Given the description of an element on the screen output the (x, y) to click on. 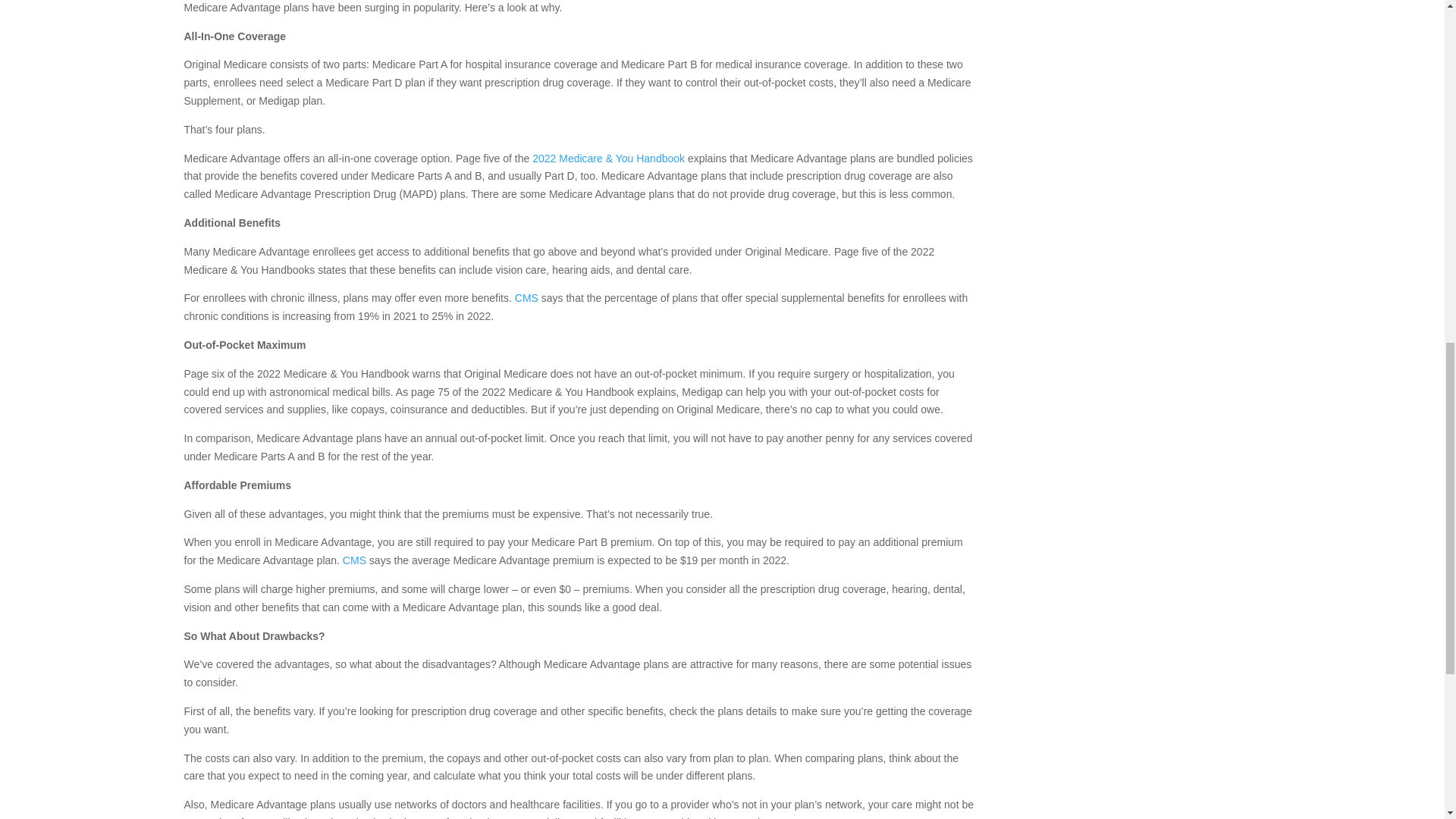
CMS (354, 560)
CMS (526, 297)
